Given the description of an element on the screen output the (x, y) to click on. 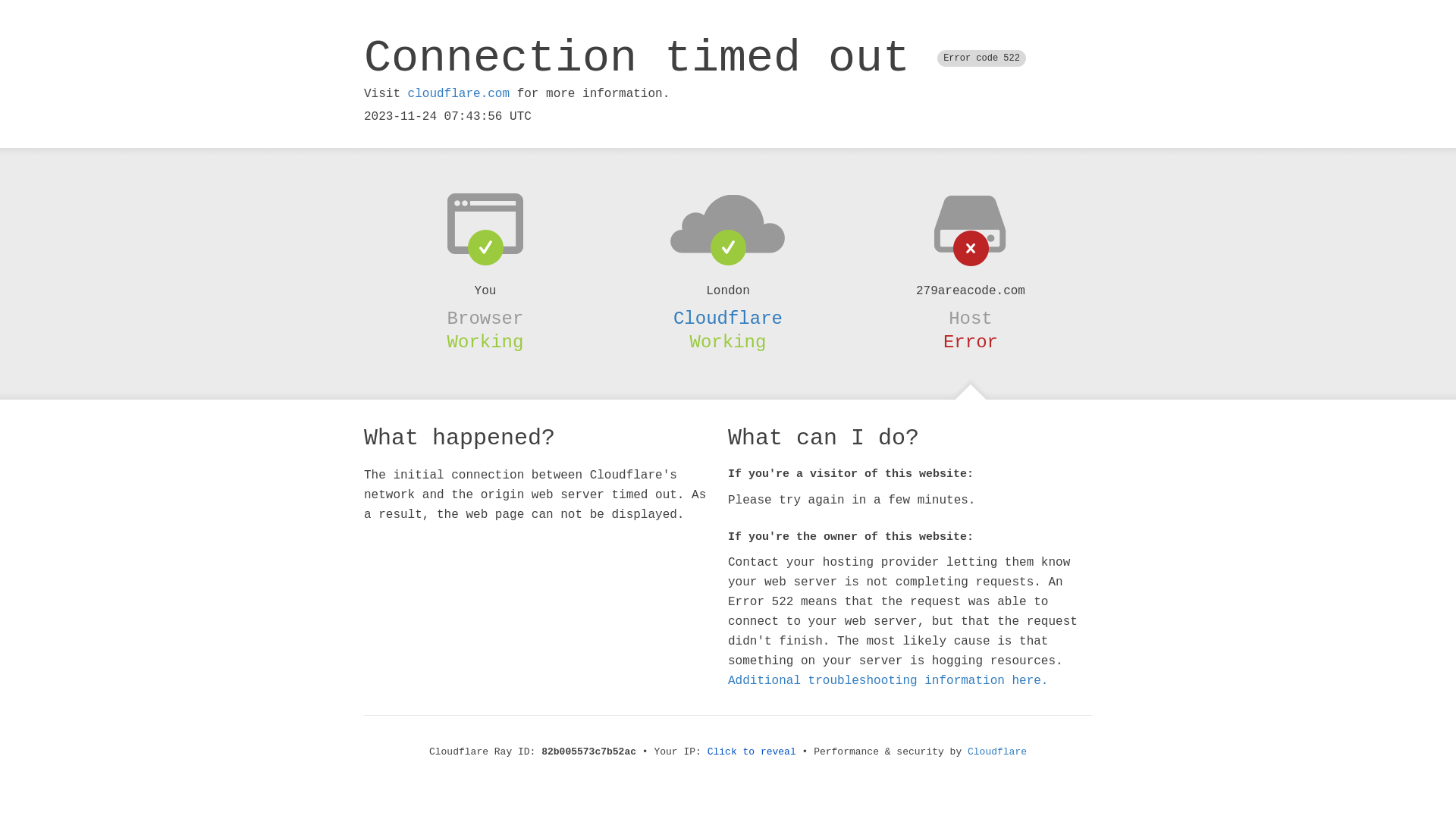
Click to reveal Element type: text (751, 751)
cloudflare.com Element type: text (458, 93)
Cloudflare Element type: text (727, 318)
Cloudflare Element type: text (996, 751)
Additional troubleshooting information here. Element type: text (888, 680)
